Given the description of an element on the screen output the (x, y) to click on. 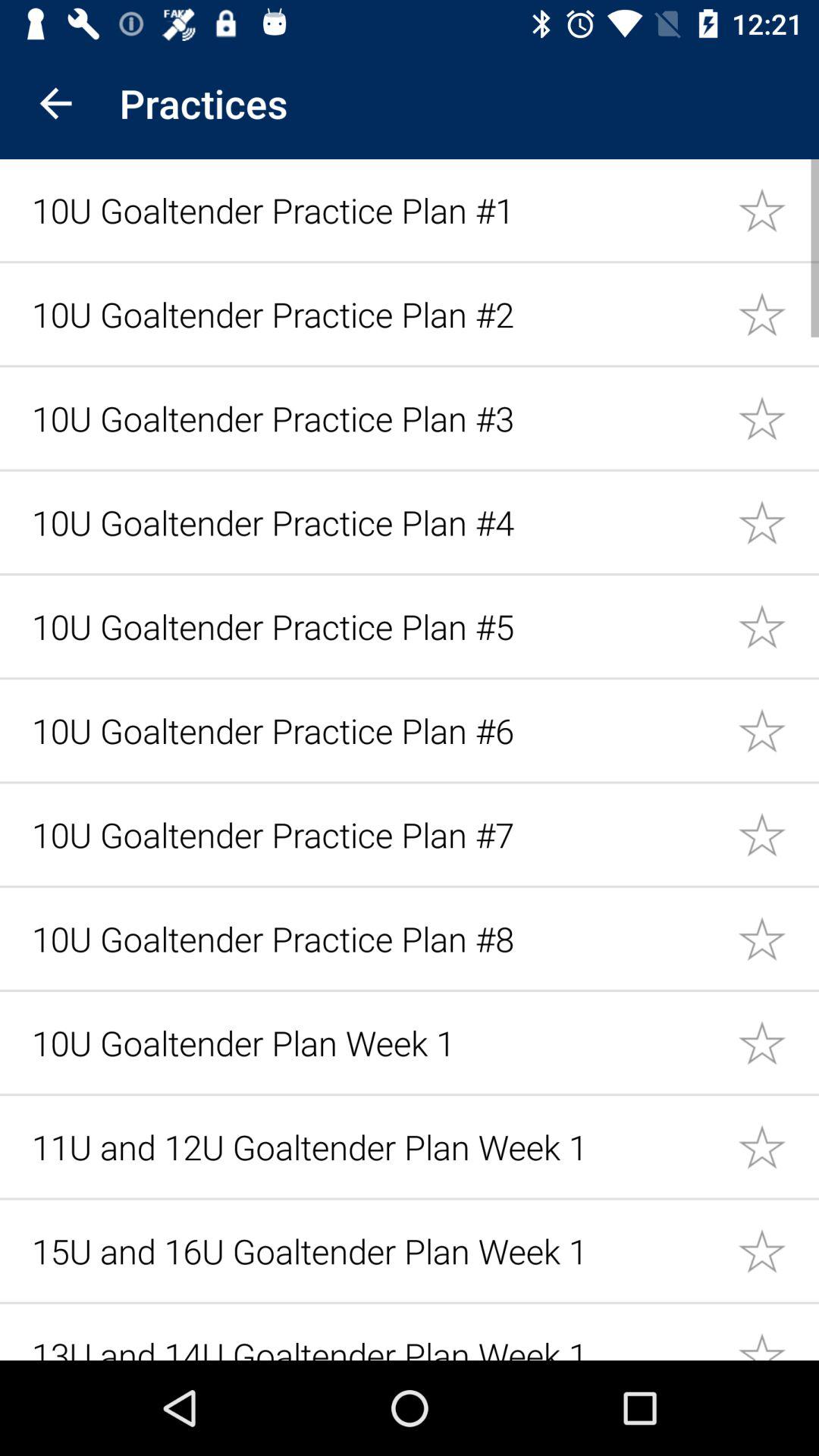
launch the icon next to the practices app (55, 103)
